Given the description of an element on the screen output the (x, y) to click on. 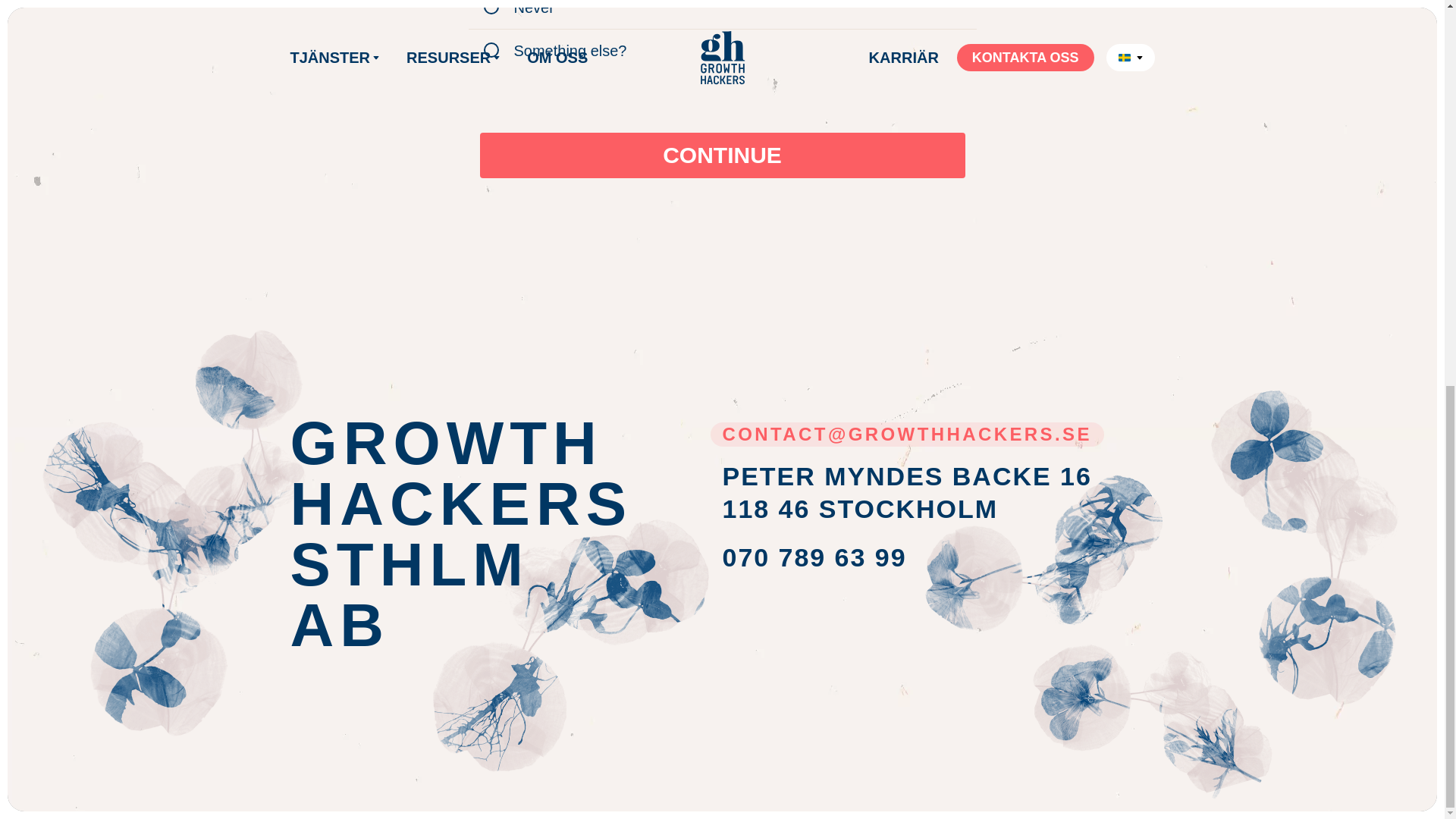
070 789 63 99 (906, 492)
CONTINUE (814, 557)
